Given the description of an element on the screen output the (x, y) to click on. 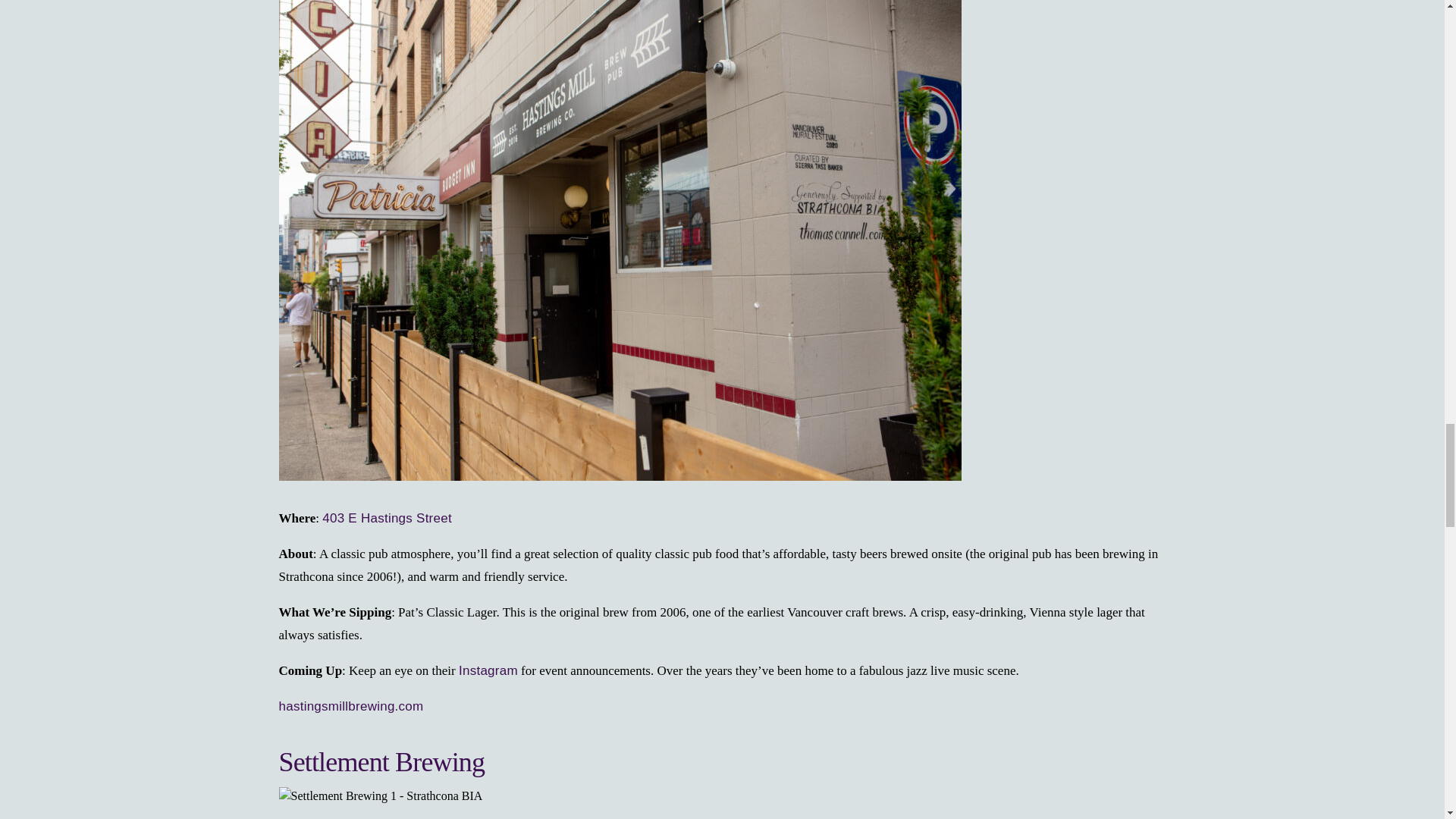
Settlement Brewing 1 - Strathcona BIA (381, 796)
